Given the description of an element on the screen output the (x, y) to click on. 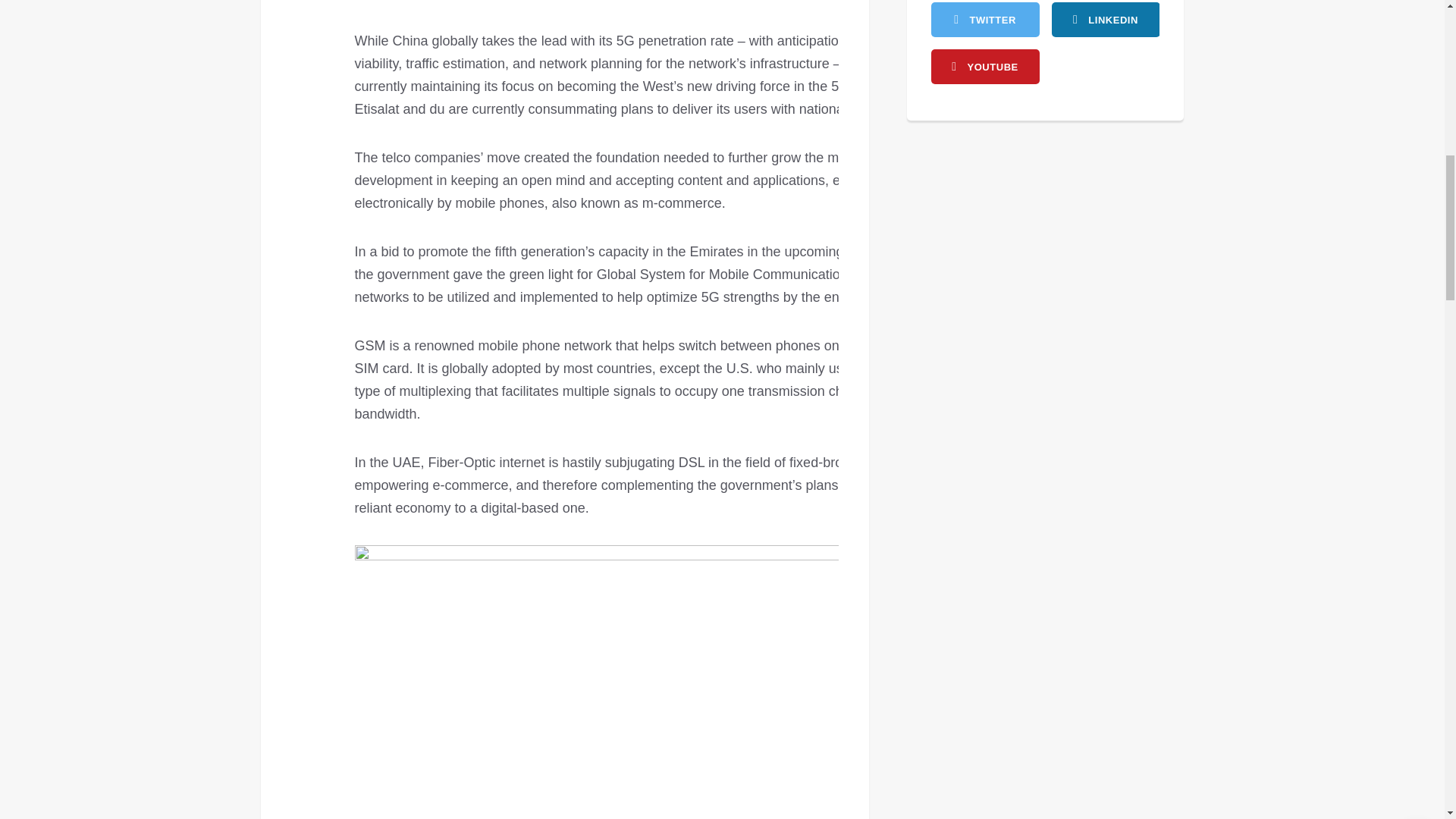
youtube (985, 66)
twitter (985, 19)
rss (1104, 19)
